Given the description of an element on the screen output the (x, y) to click on. 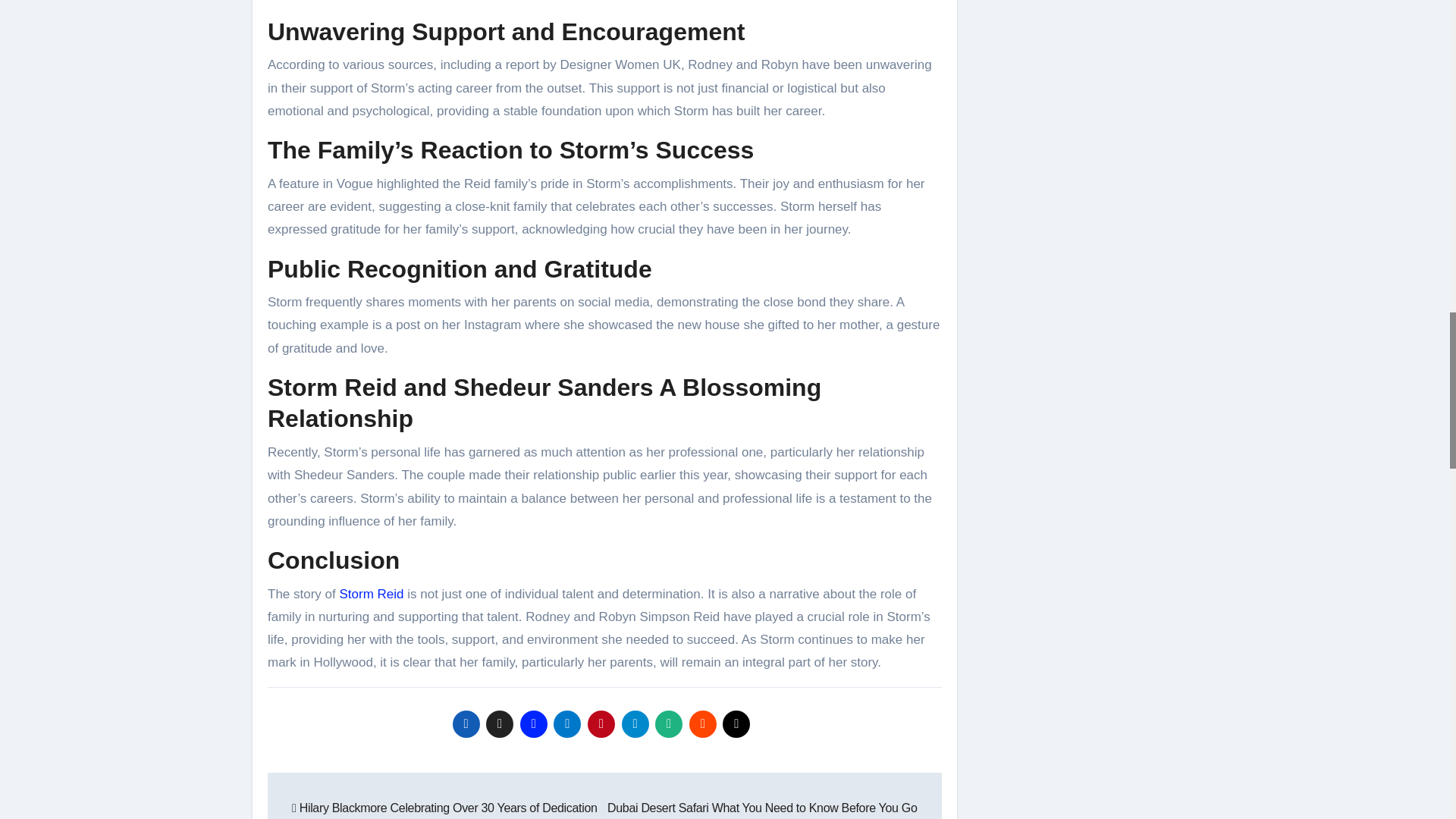
Storm Reid (371, 594)
Dubai Desert Safari What You Need to Know Before You Go (762, 810)
